Given the description of an element on the screen output the (x, y) to click on. 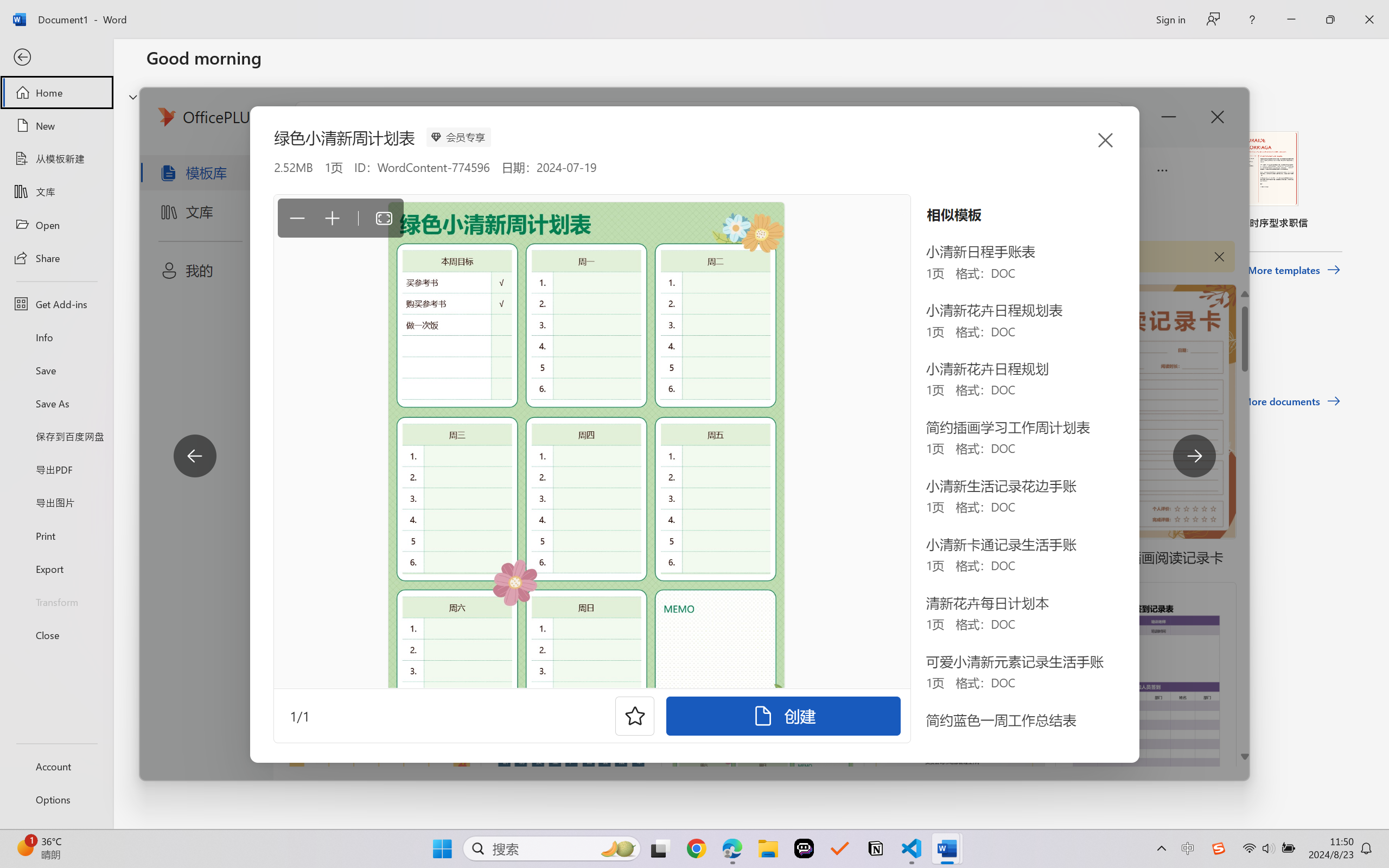
Info (56, 337)
Account (56, 765)
Shared with Me (305, 345)
